Given the description of an element on the screen output the (x, y) to click on. 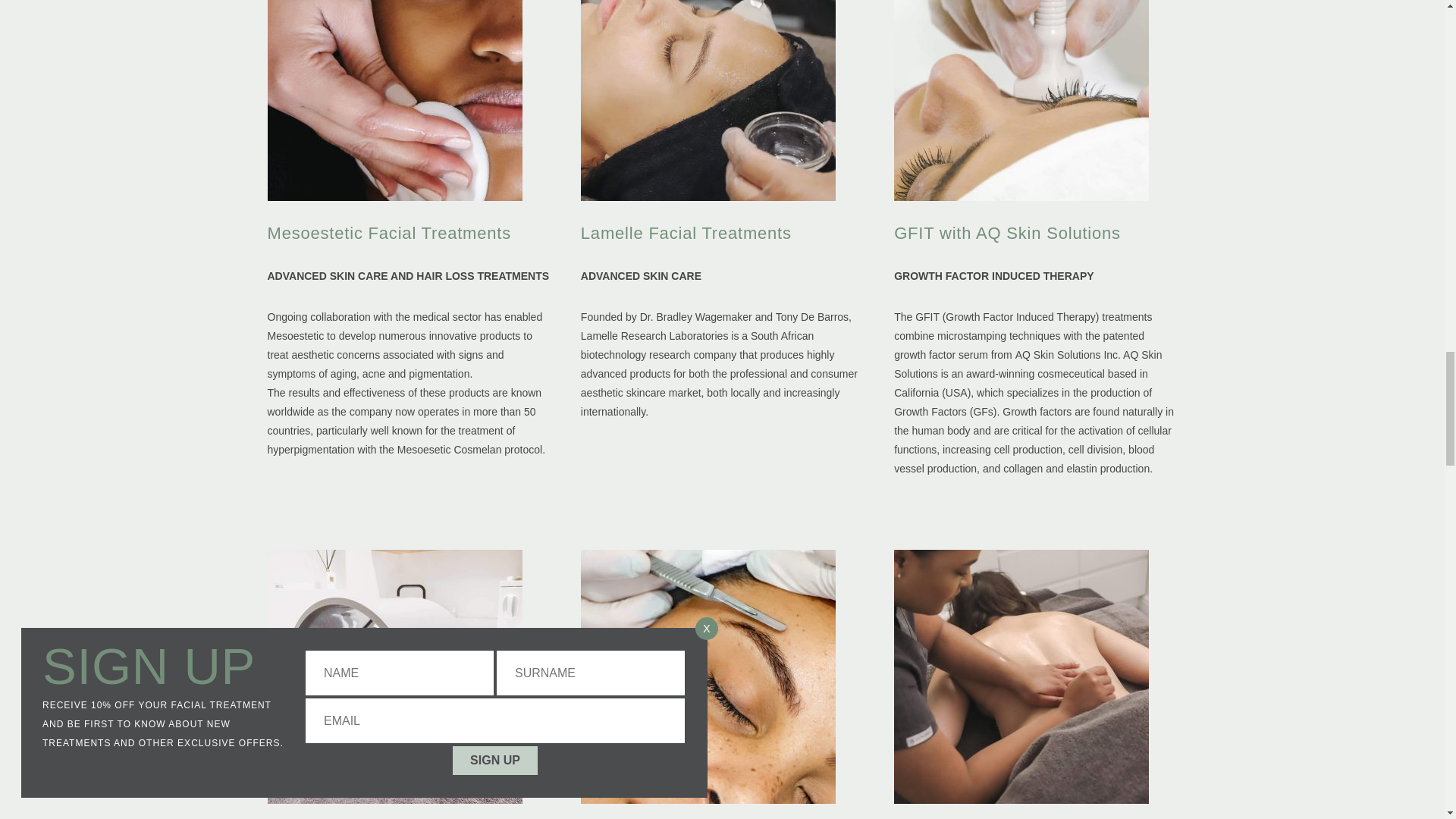
Founded by Dr. Bradley Wagemaker and Tony De Barros, (715, 316)
Lamelle Research Laboratories (321, 811)
Ongoing collaboration with the medical sector has enabled (654, 335)
Mesoestetic (403, 316)
AQ Skin Solutions Inc (1007, 242)
